Given the description of an element on the screen output the (x, y) to click on. 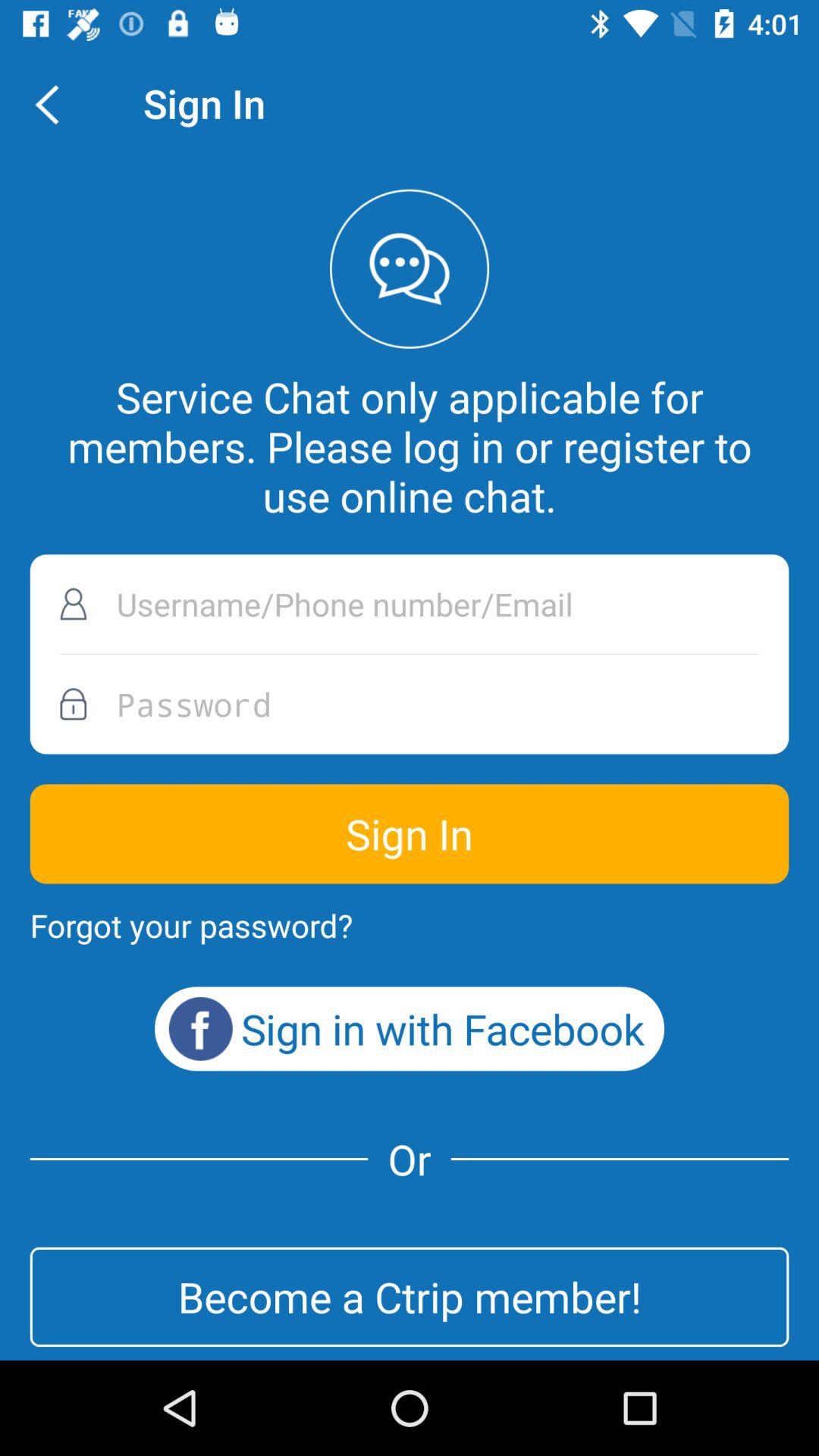
password box (409, 704)
